Given the description of an element on the screen output the (x, y) to click on. 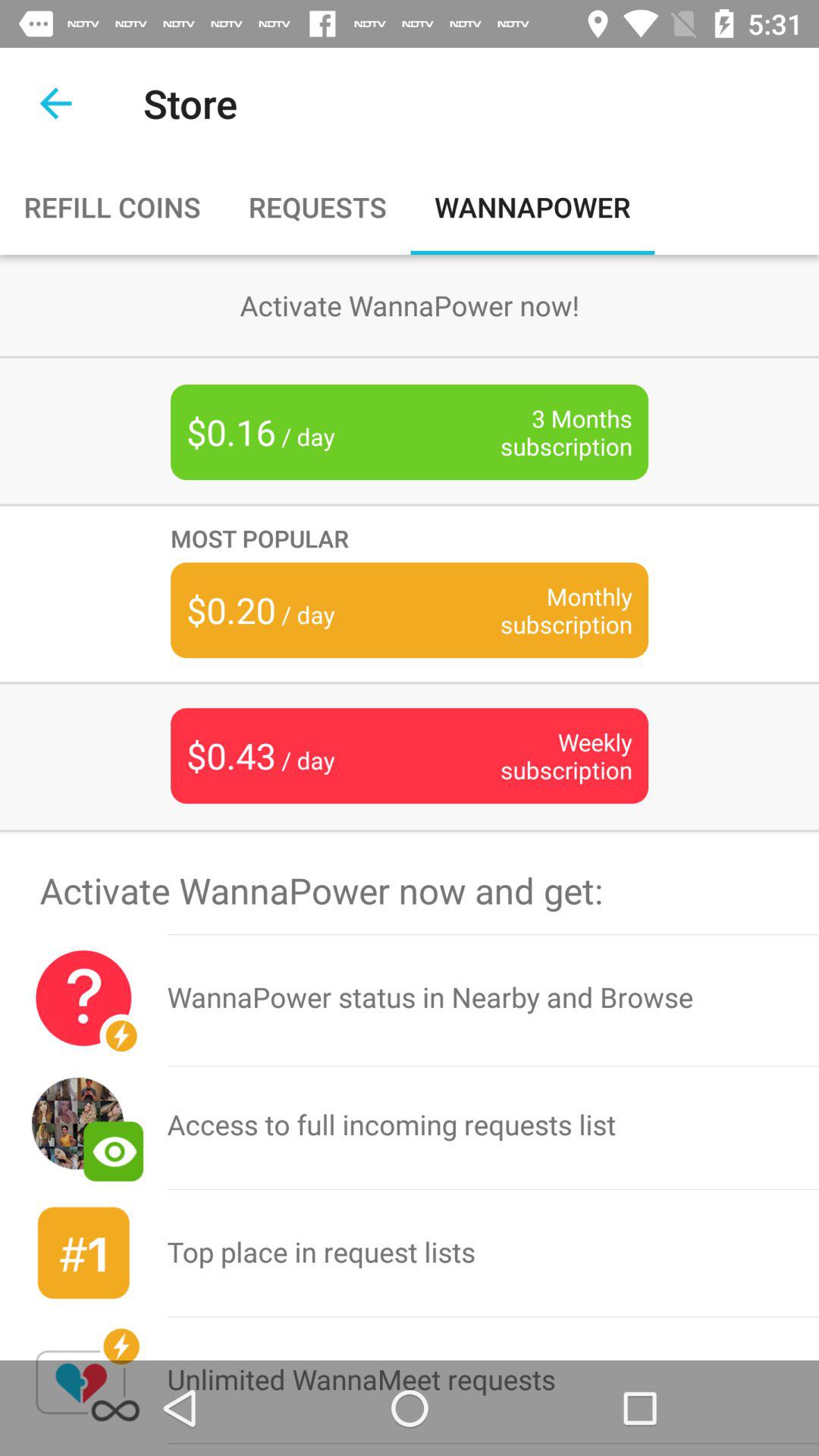
tap icon next to the wannapower status in (83, 997)
